Given the description of an element on the screen output the (x, y) to click on. 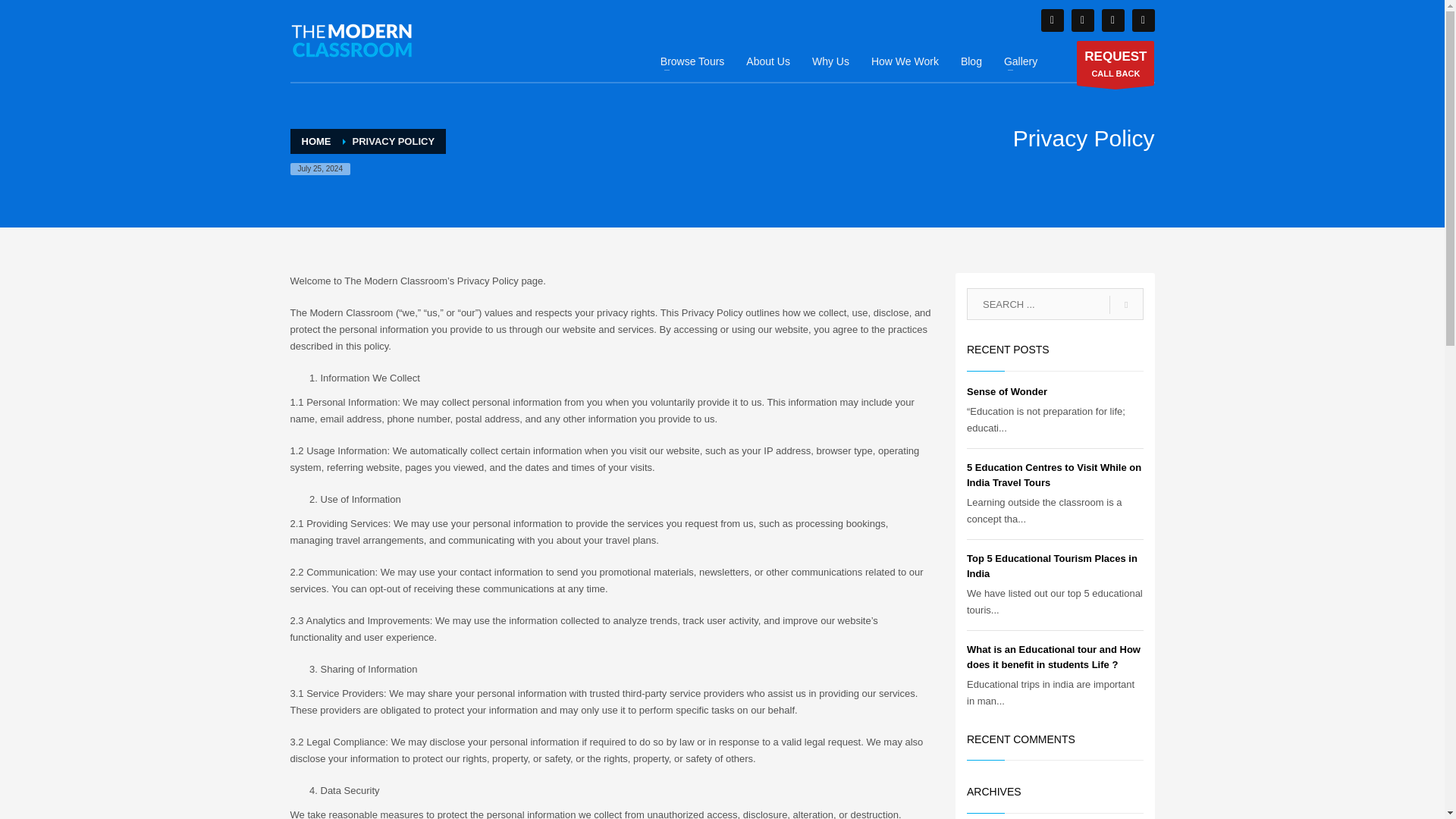
HOME (316, 141)
Top 5 Educational Tourism Places in India (1051, 565)
Experience the knowledge (351, 39)
Click to open a modal window (1115, 62)
YouTube (1115, 62)
Instagram (1081, 20)
About Us (1112, 20)
Sense of Wonder (767, 61)
Why Us (1006, 391)
Facebook (831, 61)
How We Work (1051, 20)
Sense of Wonder (904, 61)
Top 5 Educational Tourism Places in India (1006, 391)
5 Education Centres to Visit While on India Travel Tours (1051, 565)
